Given the description of an element on the screen output the (x, y) to click on. 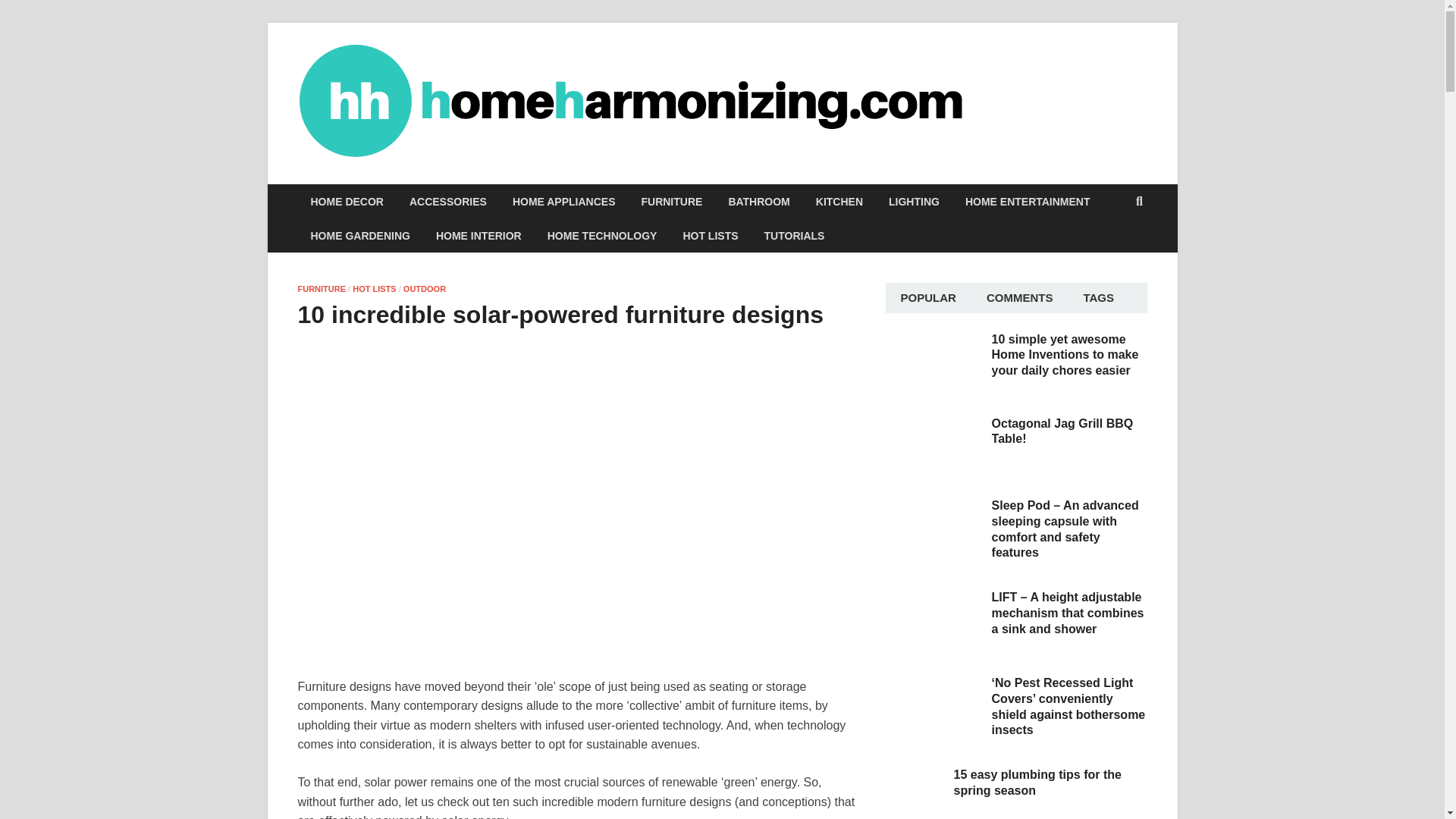
Home Harmonizing (1076, 91)
HOME GARDENING (359, 235)
HOT LISTS (374, 288)
TUTORIALS (794, 235)
KITCHEN (839, 201)
TAGS (1098, 297)
BATHROOM (758, 201)
HOME TECHNOLOGY (601, 235)
FURNITURE (670, 201)
Octagonal Jag Grill BBQ Table! (932, 424)
HOME INTERIOR (478, 235)
POPULAR (928, 297)
LIGHTING (914, 201)
